Given the description of an element on the screen output the (x, y) to click on. 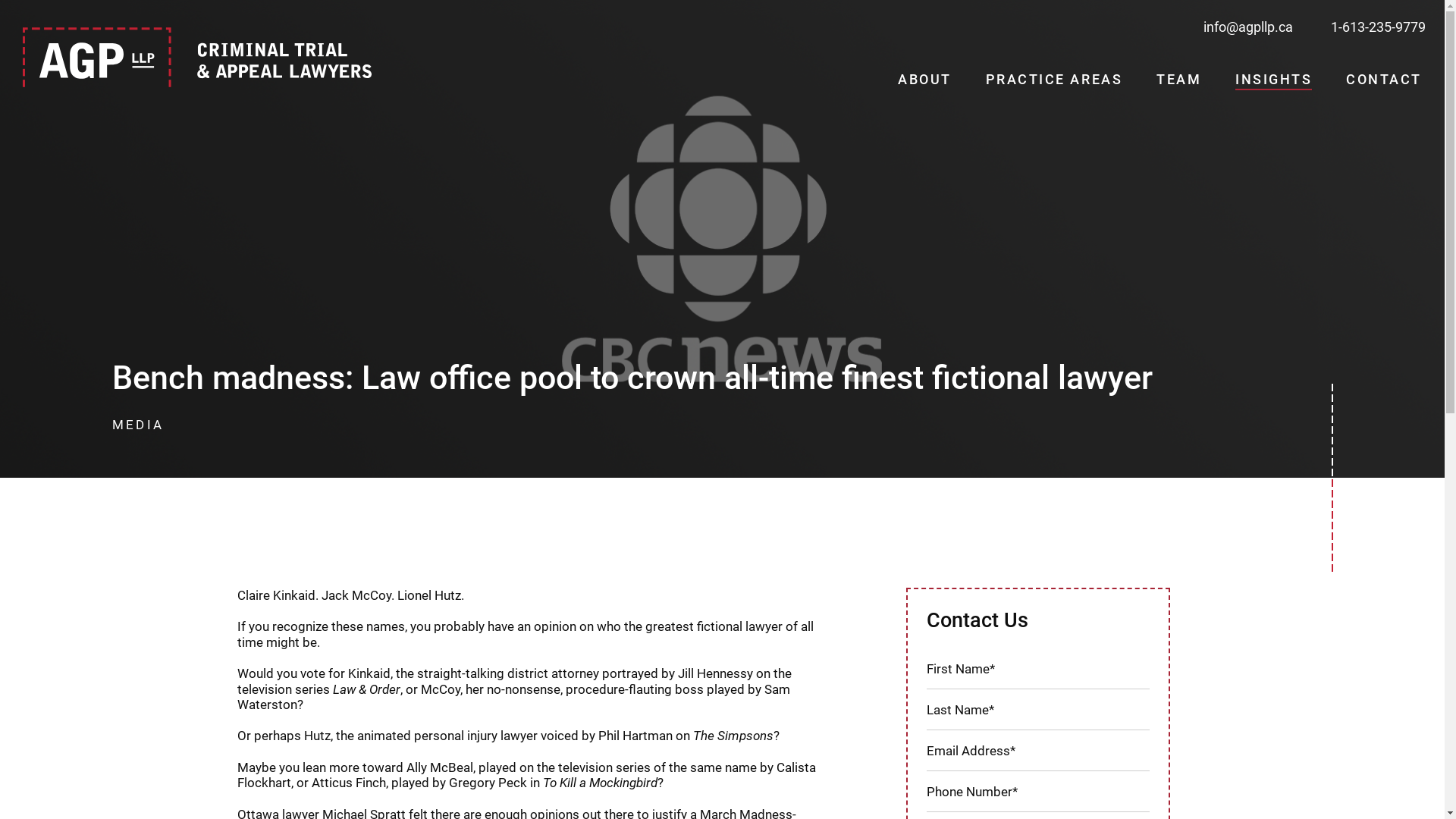
ABOUT Element type: text (924, 79)
logo Element type: hover (196, 56)
info@agpllp.ca Element type: text (1247, 26)
CONTACT Element type: text (1383, 79)
1-613-235-9779 Element type: text (1377, 26)
INSIGHTS Element type: text (1273, 79)
PRACTICE AREAS Element type: text (1053, 79)
TEAM Element type: text (1178, 79)
Submit Element type: text (26, 9)
